Given the description of an element on the screen output the (x, y) to click on. 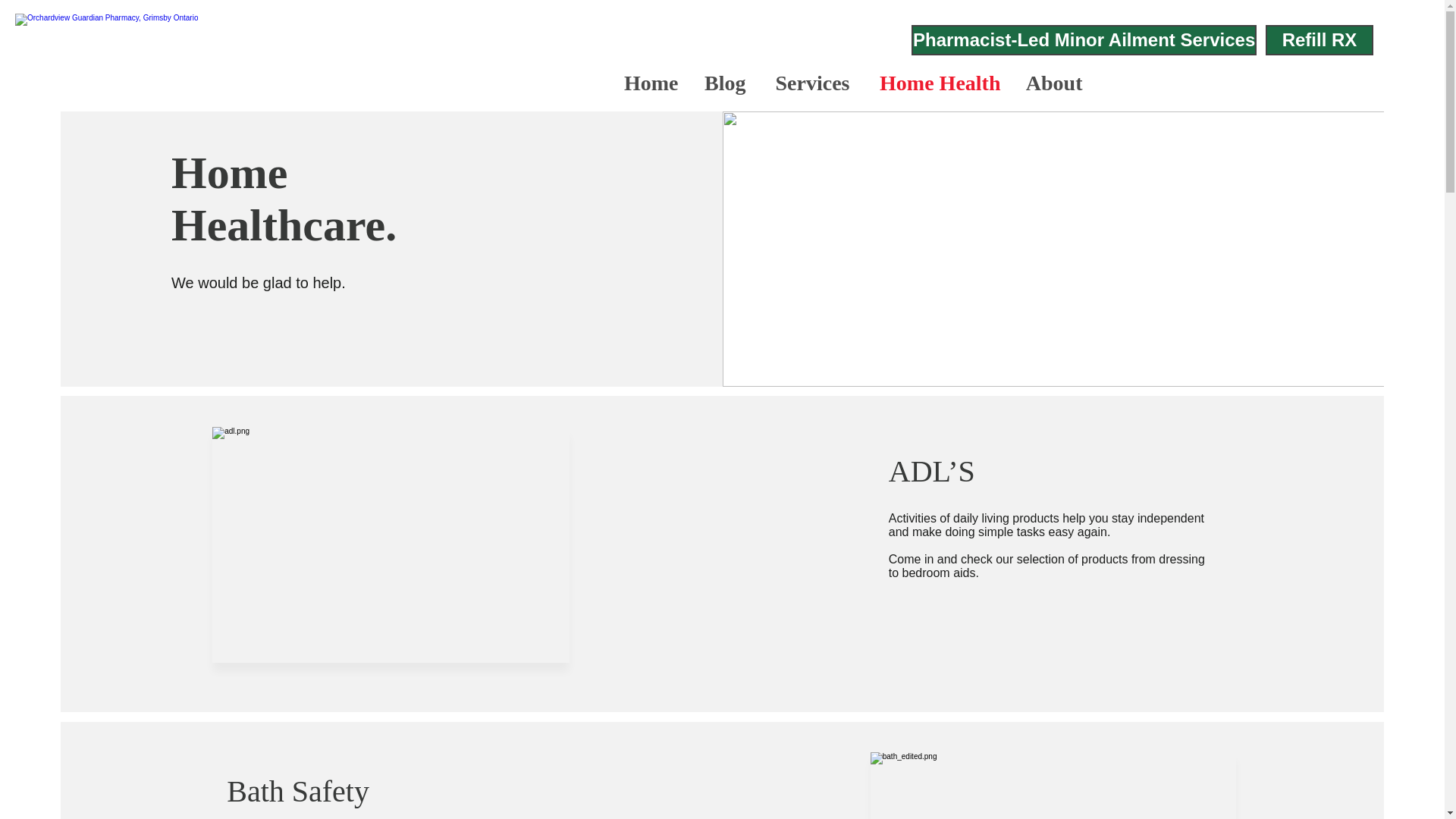
About (1052, 82)
Pharmacist-Led Minor Ailment Services (1083, 40)
Home Health (936, 82)
Home (650, 82)
Services (808, 82)
Refill RX (1319, 40)
Blog (723, 82)
